Given the description of an element on the screen output the (x, y) to click on. 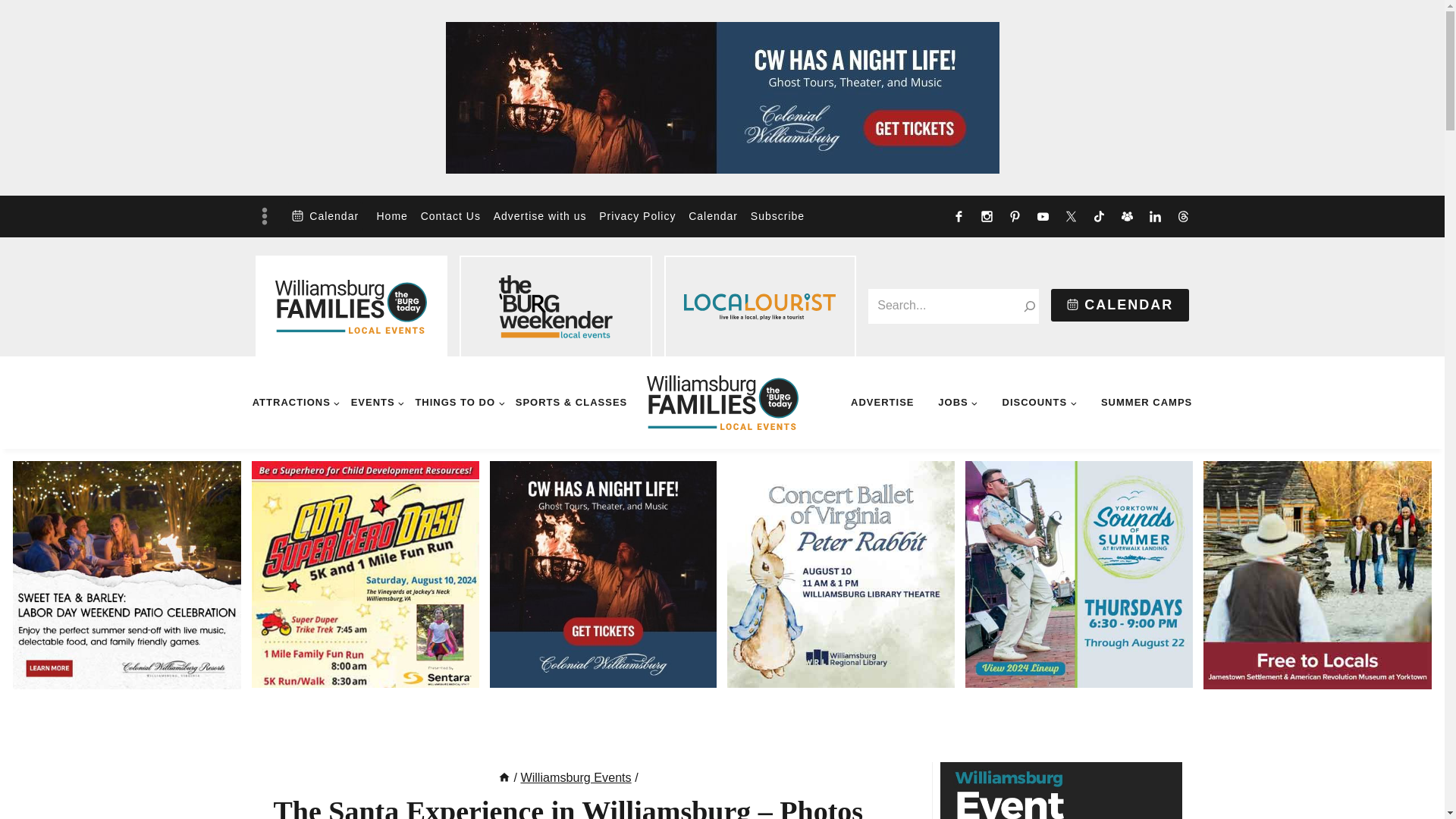
Contact Us (449, 216)
Privacy Policy (637, 216)
THINGS TO DO (459, 402)
Calendar (325, 215)
Advertise with us (539, 216)
EVENTS (376, 402)
Home (391, 216)
Subscribe (777, 216)
Calendar (713, 216)
ATTRACTIONS (296, 402)
